Given the description of an element on the screen output the (x, y) to click on. 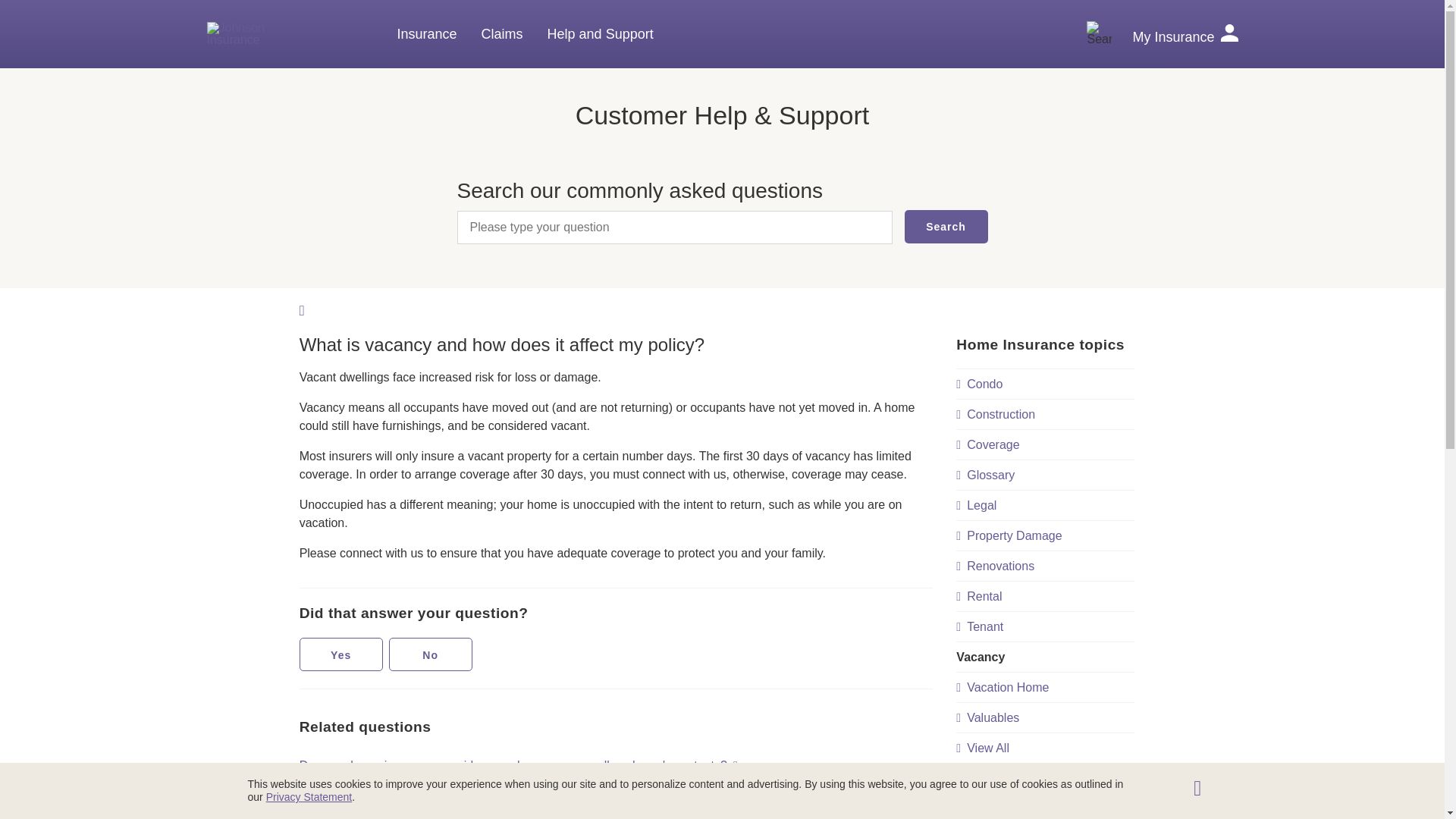
Yes (340, 654)
Vacation Home (1045, 687)
Insurance (427, 34)
Renovations (1045, 565)
Tenant (1045, 626)
Legal (1045, 505)
Glossary (1045, 475)
No (429, 654)
How much home insurance coverage do I need? (429, 794)
Construction (1045, 414)
Search (945, 226)
Back (310, 310)
Condo (1045, 384)
Help and Support (600, 34)
